Given the description of an element on the screen output the (x, y) to click on. 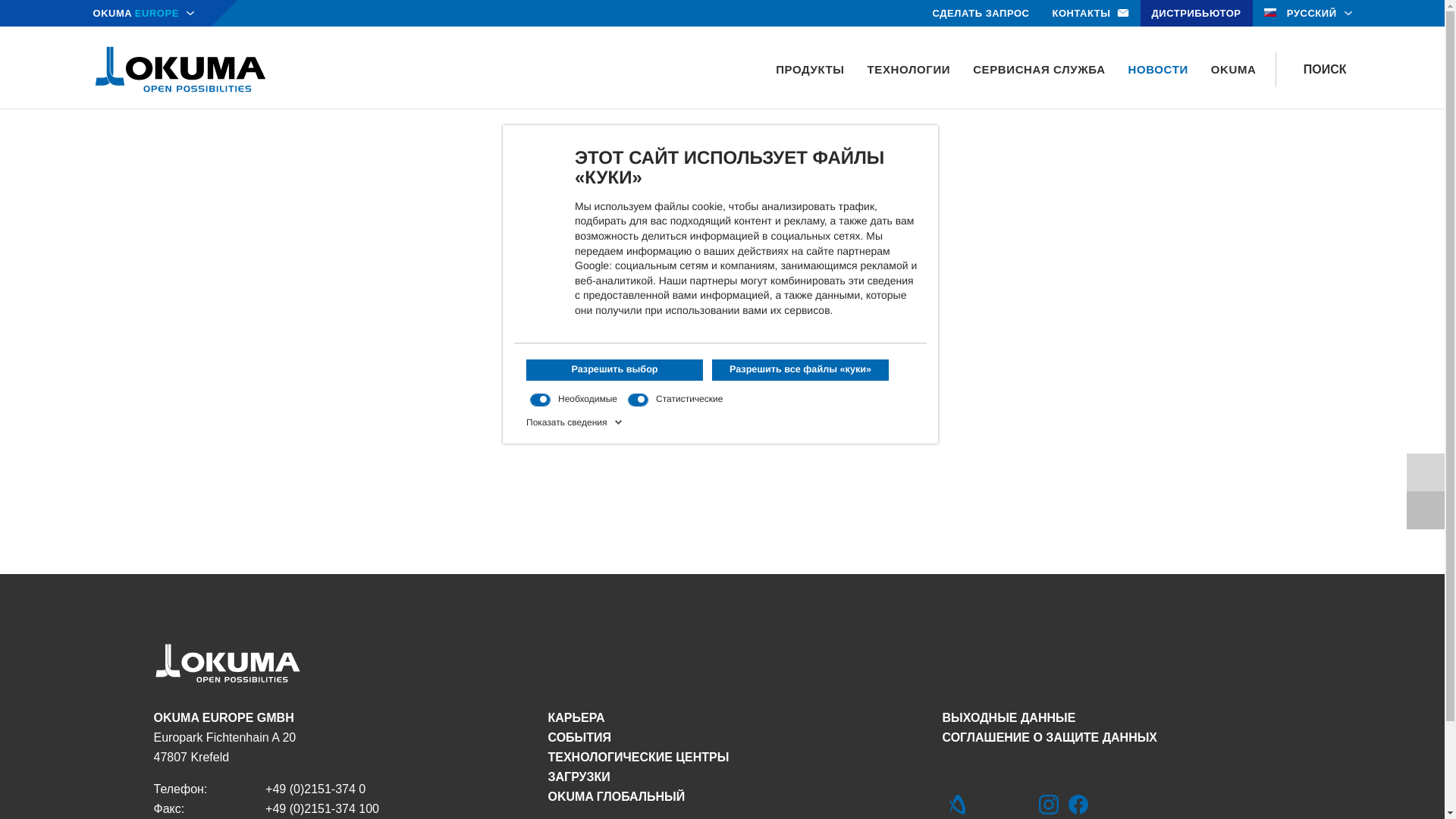
on (637, 399)
on (539, 399)
